Given the description of an element on the screen output the (x, y) to click on. 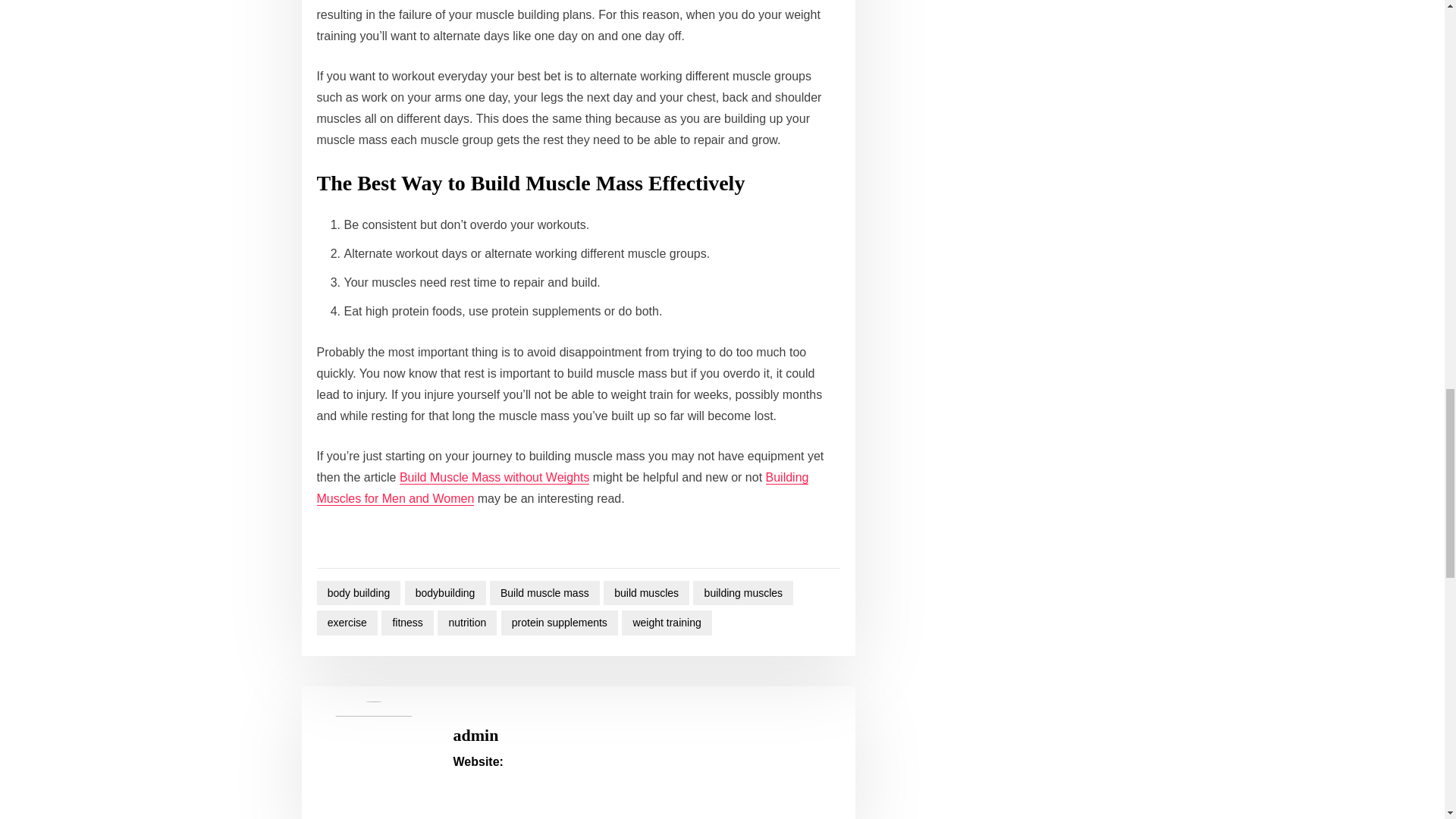
building muscles (743, 593)
Build muscle mass (544, 593)
Build Muscle Mass without Weights (493, 477)
bodybuilding (445, 593)
fitness (407, 622)
protein supplements (558, 622)
body building (359, 593)
nutrition (467, 622)
Building Muscles for Men and Women (563, 487)
weight training (666, 622)
